Given the description of an element on the screen output the (x, y) to click on. 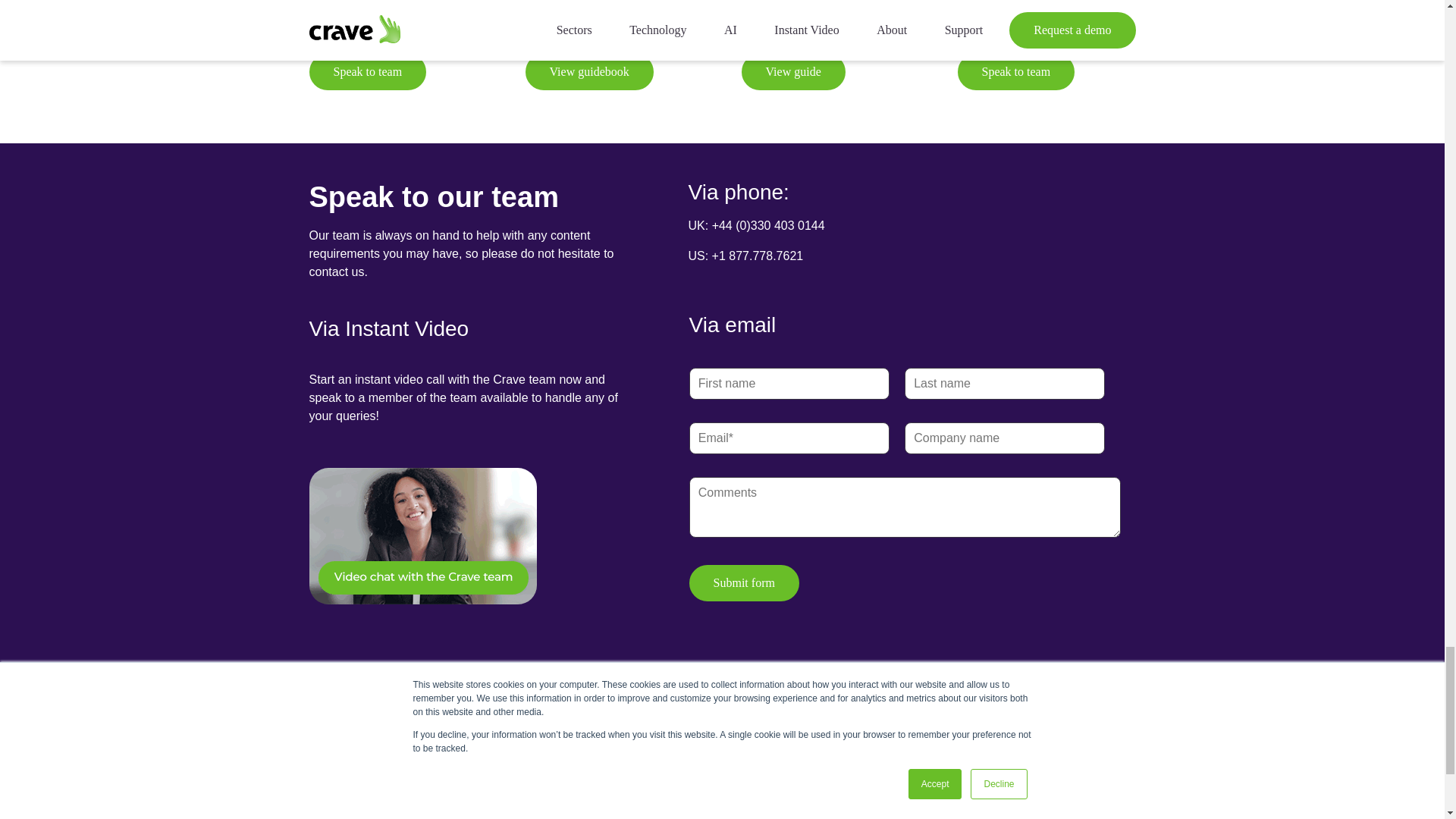
Submit form (743, 583)
